Given the description of an element on the screen output the (x, y) to click on. 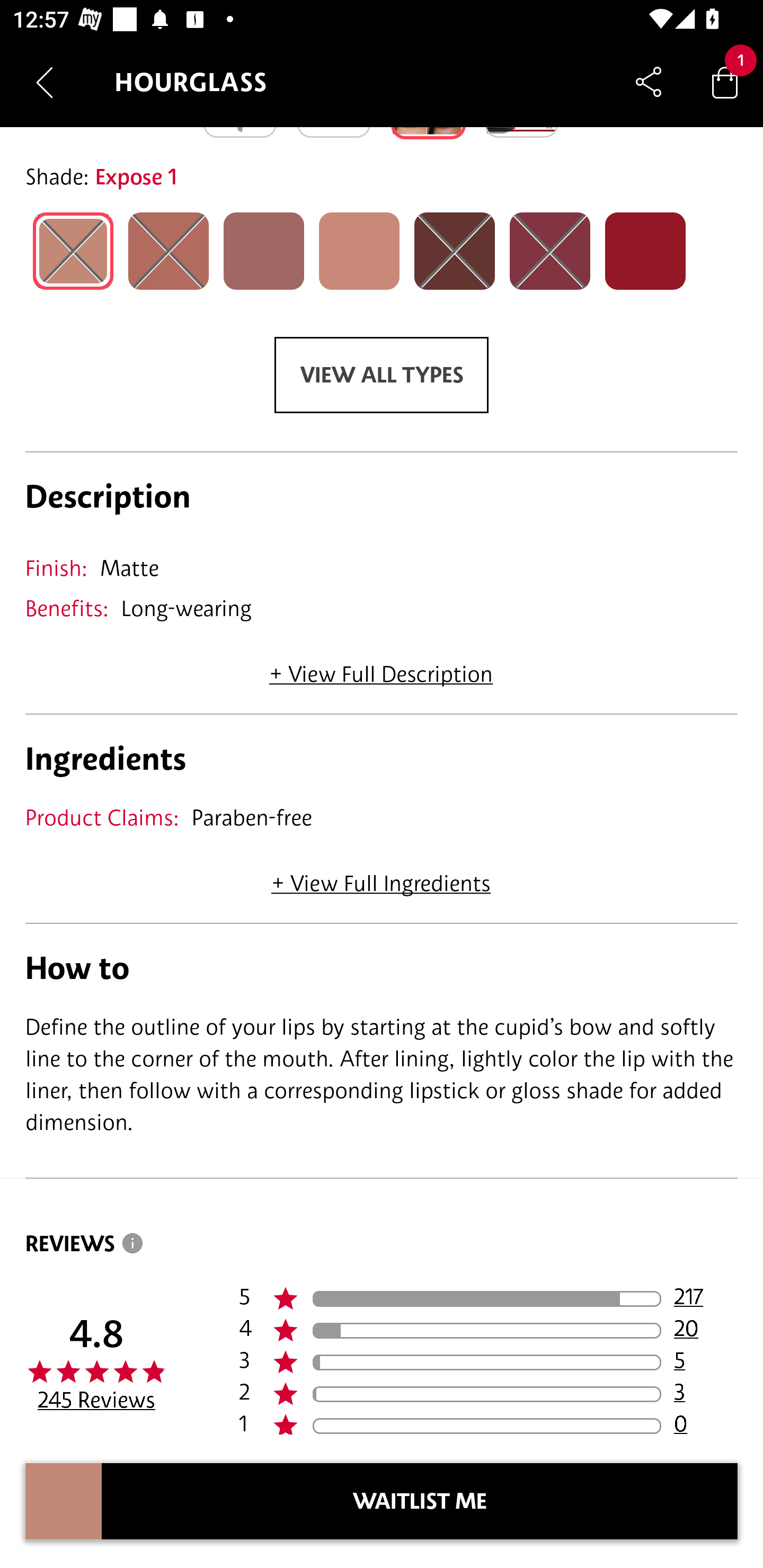
Navigate up (44, 82)
Share (648, 81)
Bag (724, 81)
VIEW ALL TYPES (381, 375)
+ View Full Description (380, 667)
+ View Full Ingredients (380, 876)
5 88.0 217 (487, 1298)
4 8.0 20 (487, 1330)
3 2.0 5 (487, 1362)
2 1.0 3 (487, 1393)
245 Reviews (96, 1400)
1 0.0 0 (487, 1421)
WAITLIST ME (419, 1500)
